Given the description of an element on the screen output the (x, y) to click on. 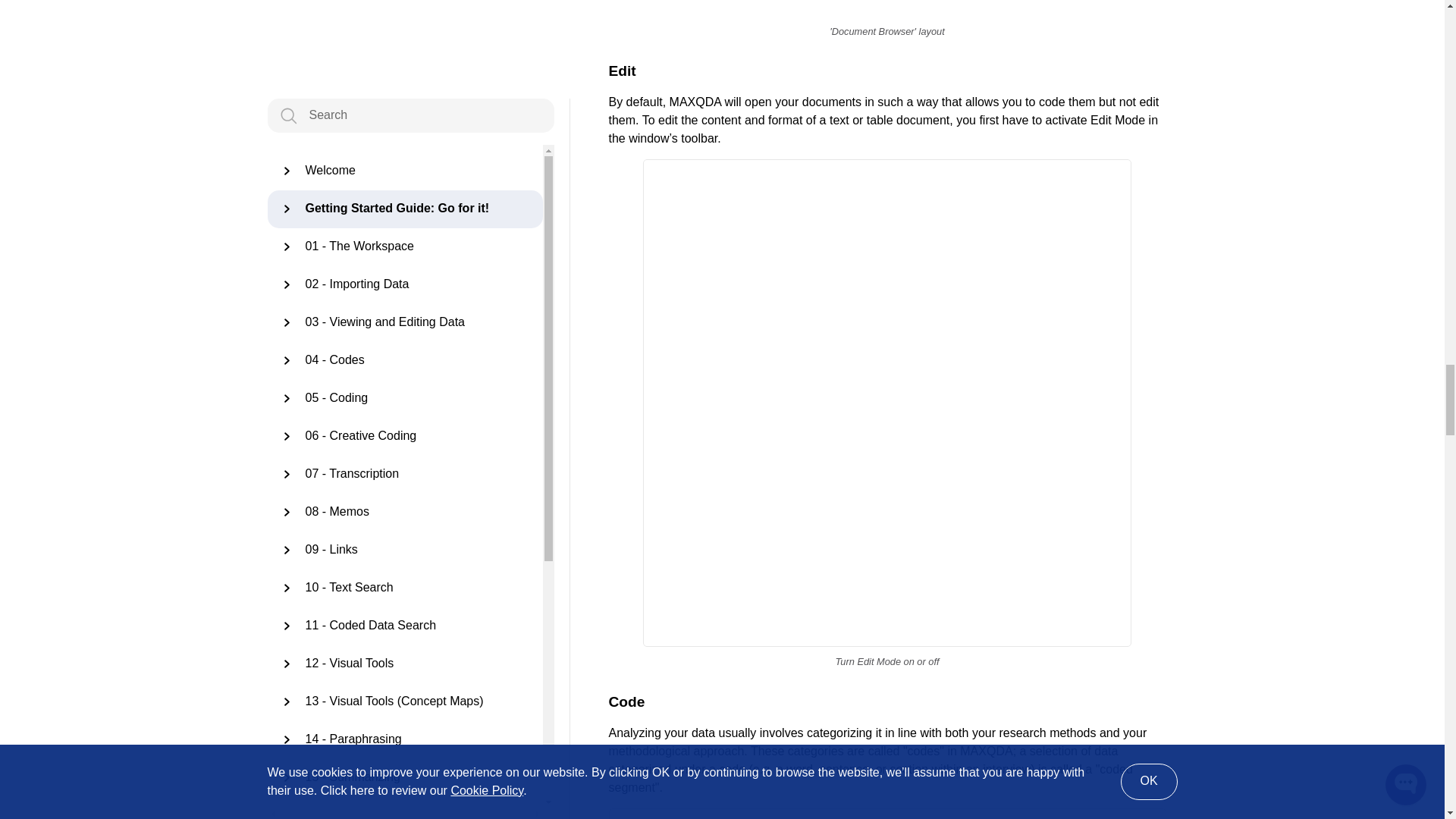
'Document Browser' layout (887, 8)
